Given the description of an element on the screen output the (x, y) to click on. 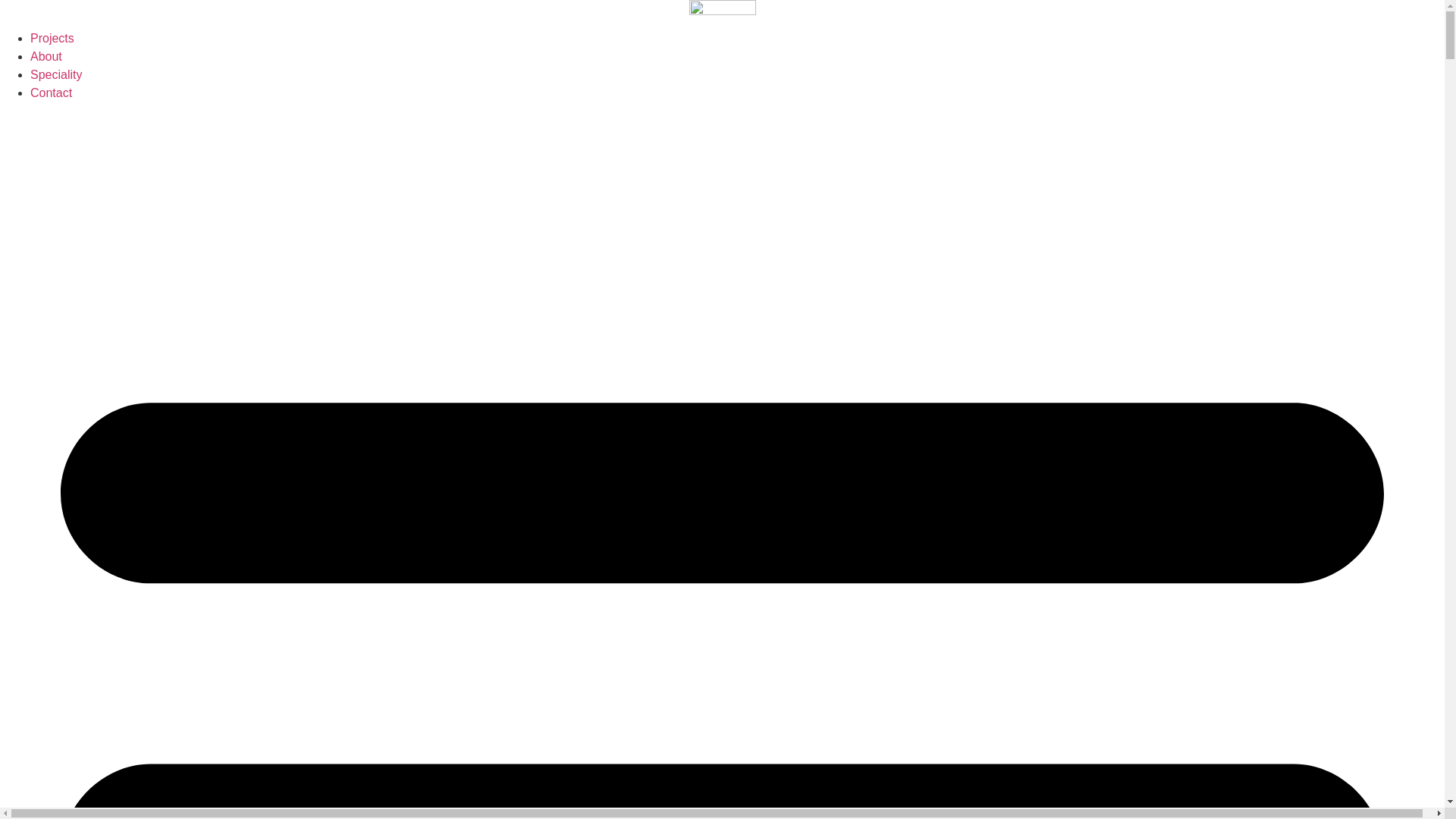
About Element type: text (46, 56)
Contact Element type: text (51, 92)
Speciality Element type: text (55, 74)
Projects Element type: text (52, 37)
